Given the description of an element on the screen output the (x, y) to click on. 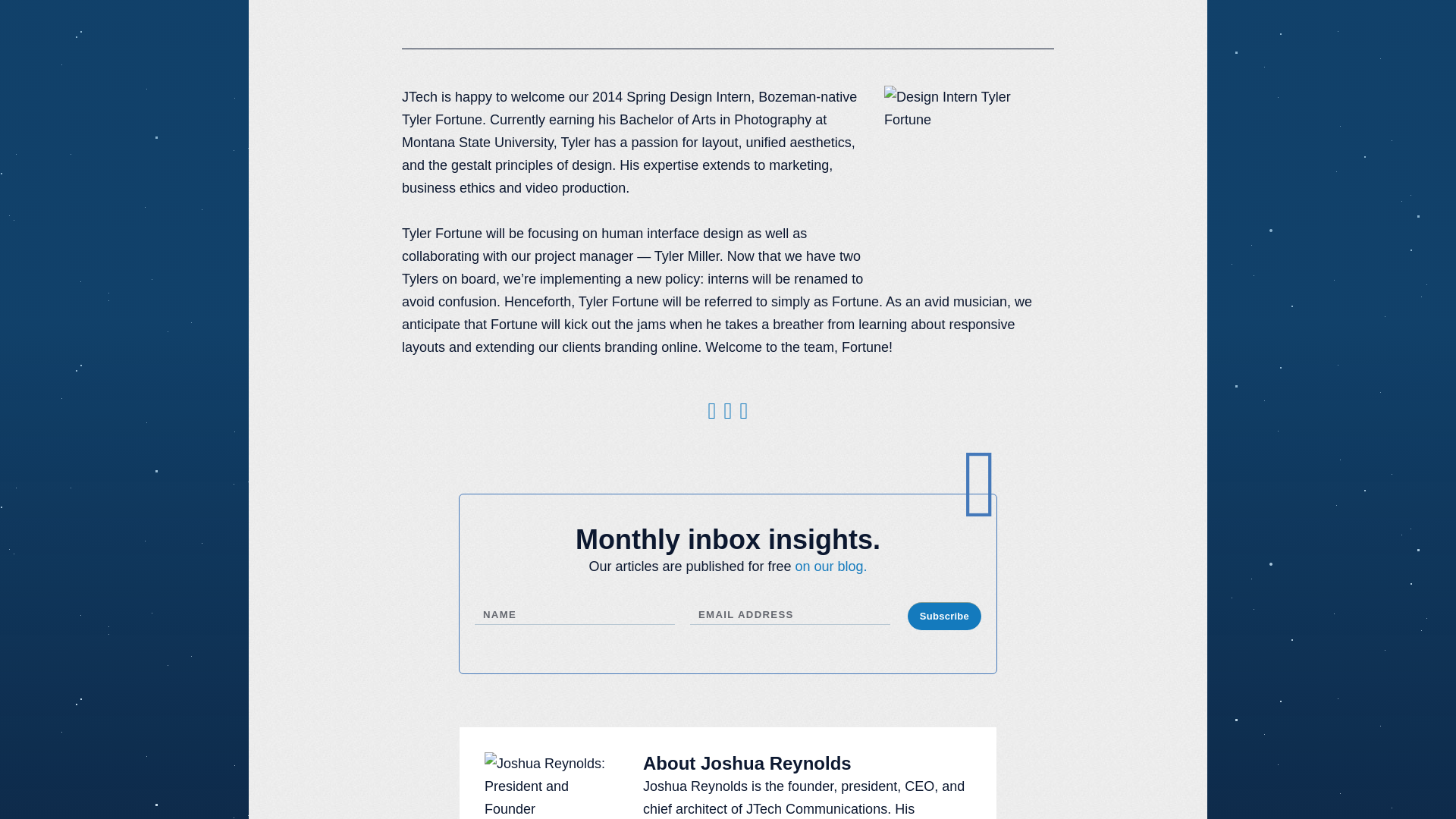
Submit Form (494, 685)
on our blog. (830, 566)
Subscribe (944, 615)
